Given the description of an element on the screen output the (x, y) to click on. 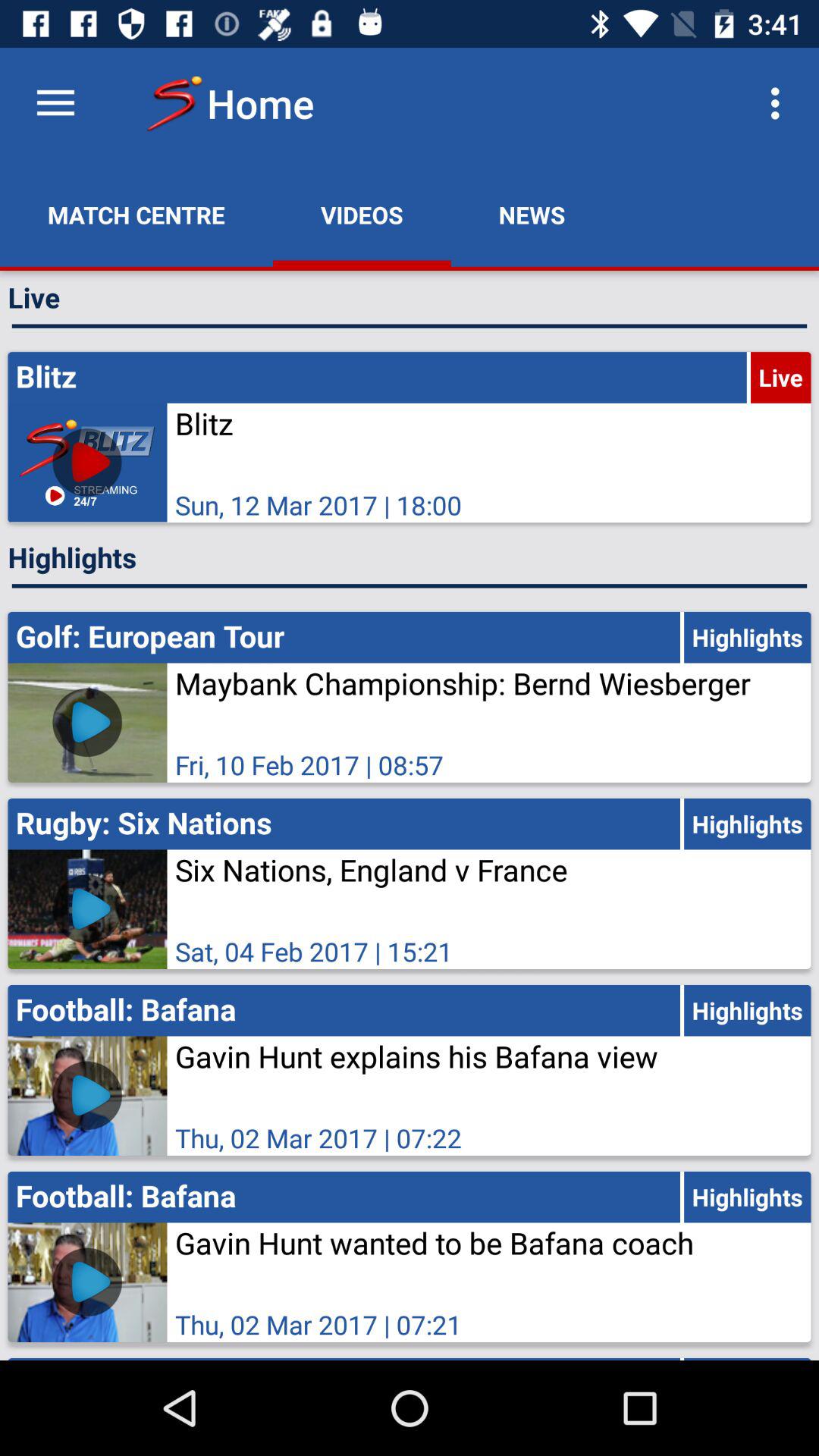
turn off the icon to the right of match centre app (362, 214)
